Given the description of an element on the screen output the (x, y) to click on. 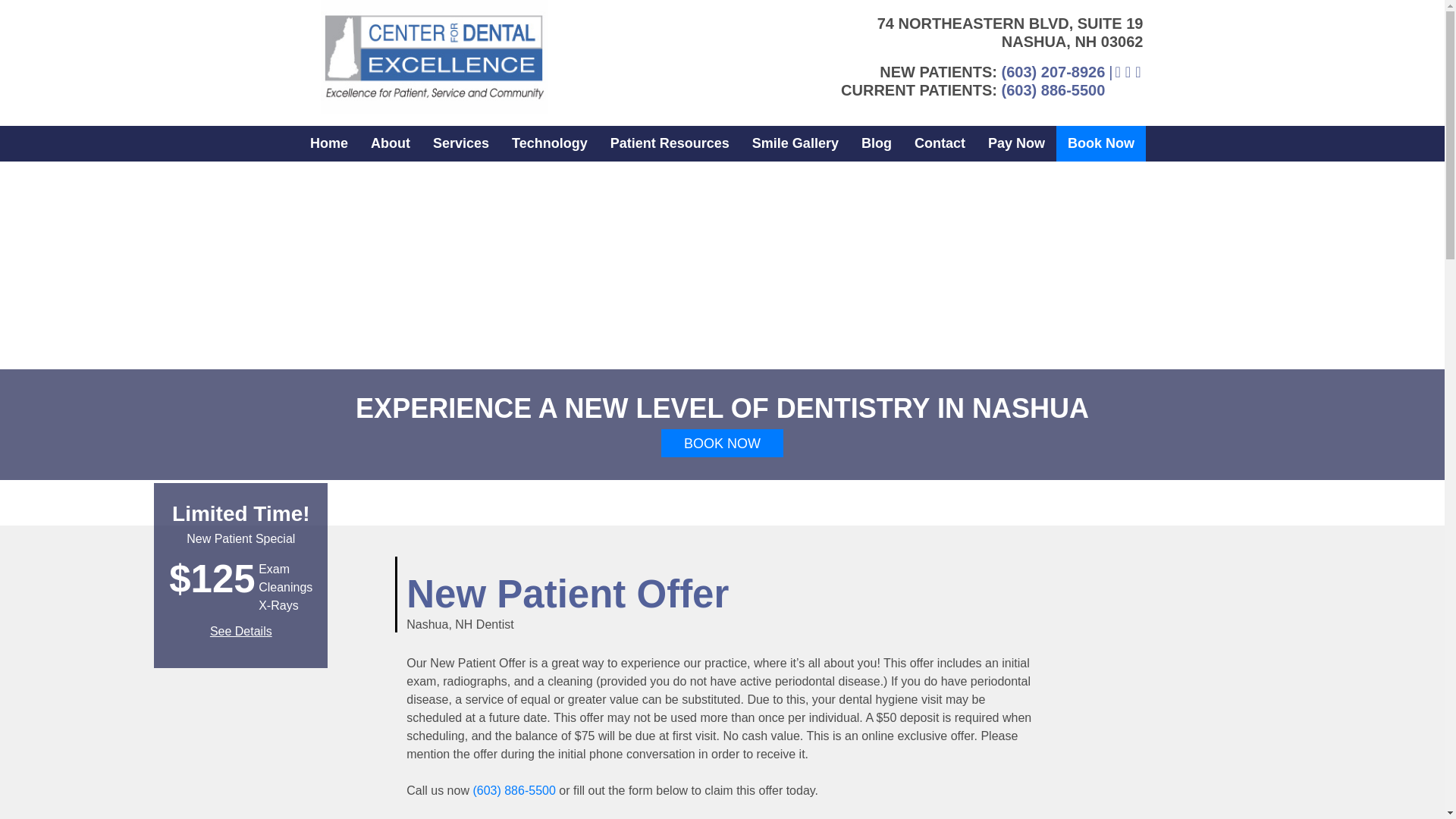
Services (461, 143)
return to home page (434, 56)
About (390, 143)
Home (328, 143)
